Given the description of an element on the screen output the (x, y) to click on. 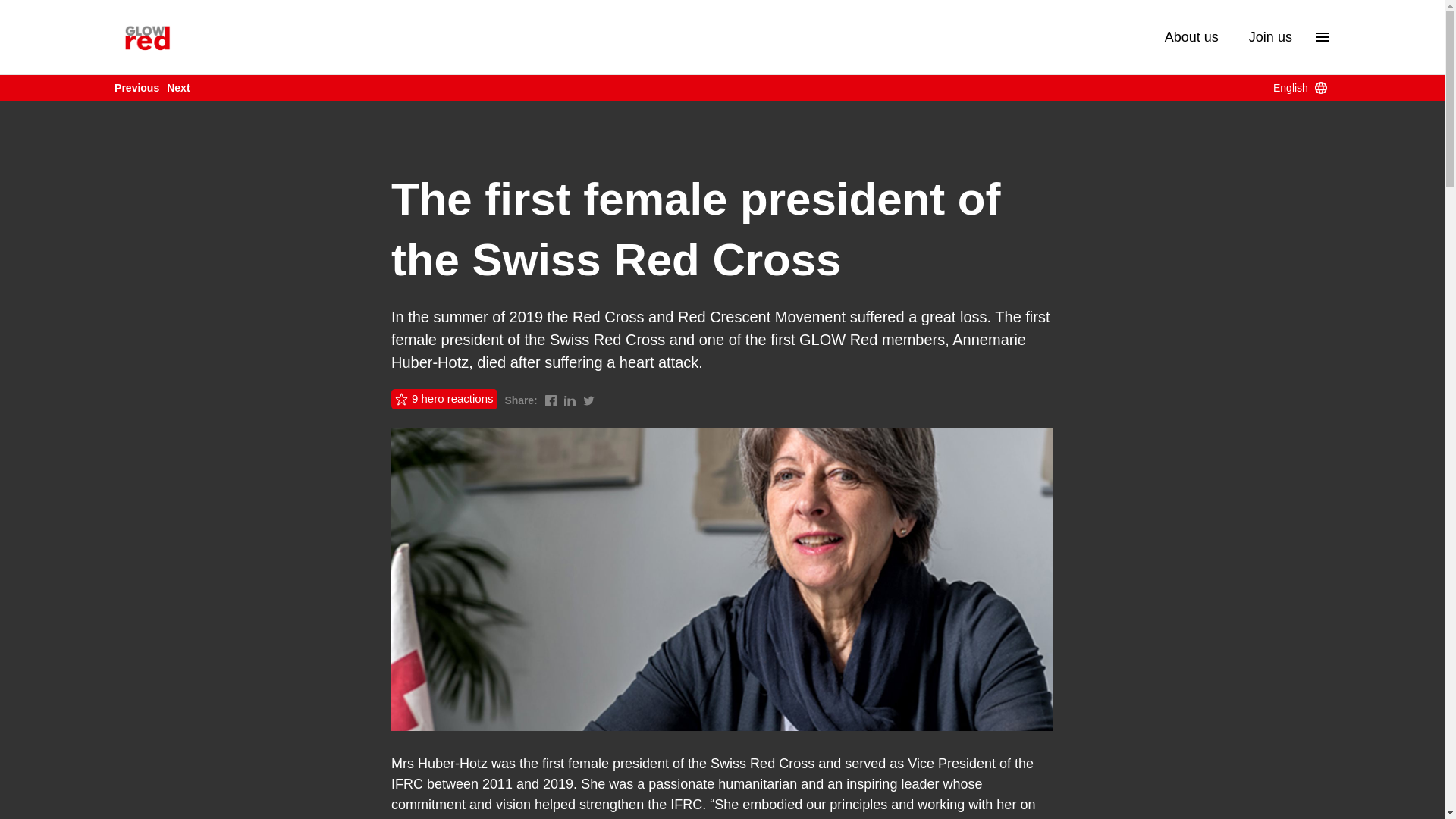
Logo GLOW Red (147, 36)
English (1301, 87)
About us (1191, 36)
Previous (136, 88)
Next (178, 88)
To Red Cross (147, 36)
Next (178, 88)
Previous (136, 88)
Join us (1270, 36)
